Given the description of an element on the screen output the (x, y) to click on. 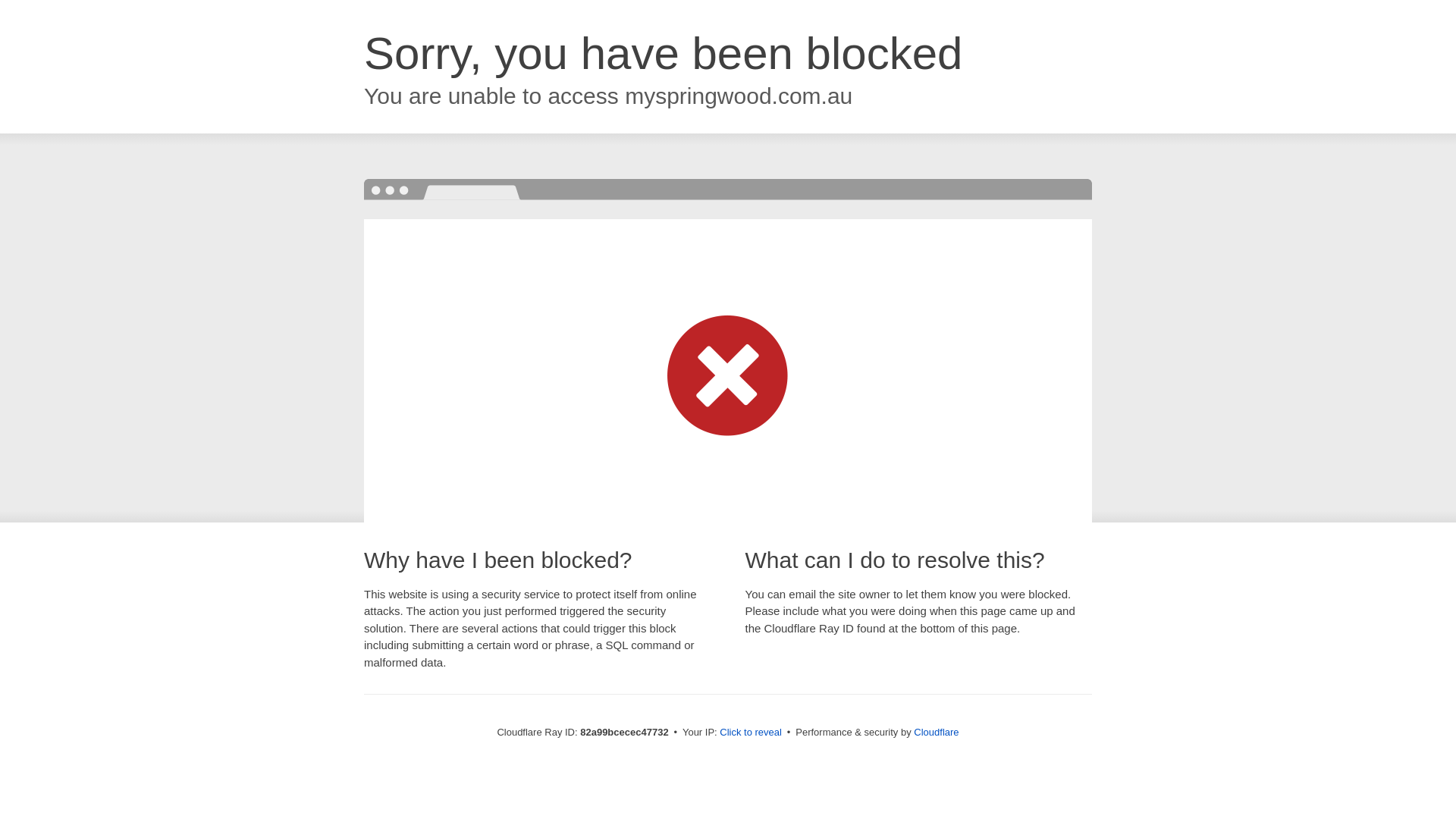
Cloudflare Element type: text (935, 731)
Click to reveal Element type: text (750, 732)
